Given the description of an element on the screen output the (x, y) to click on. 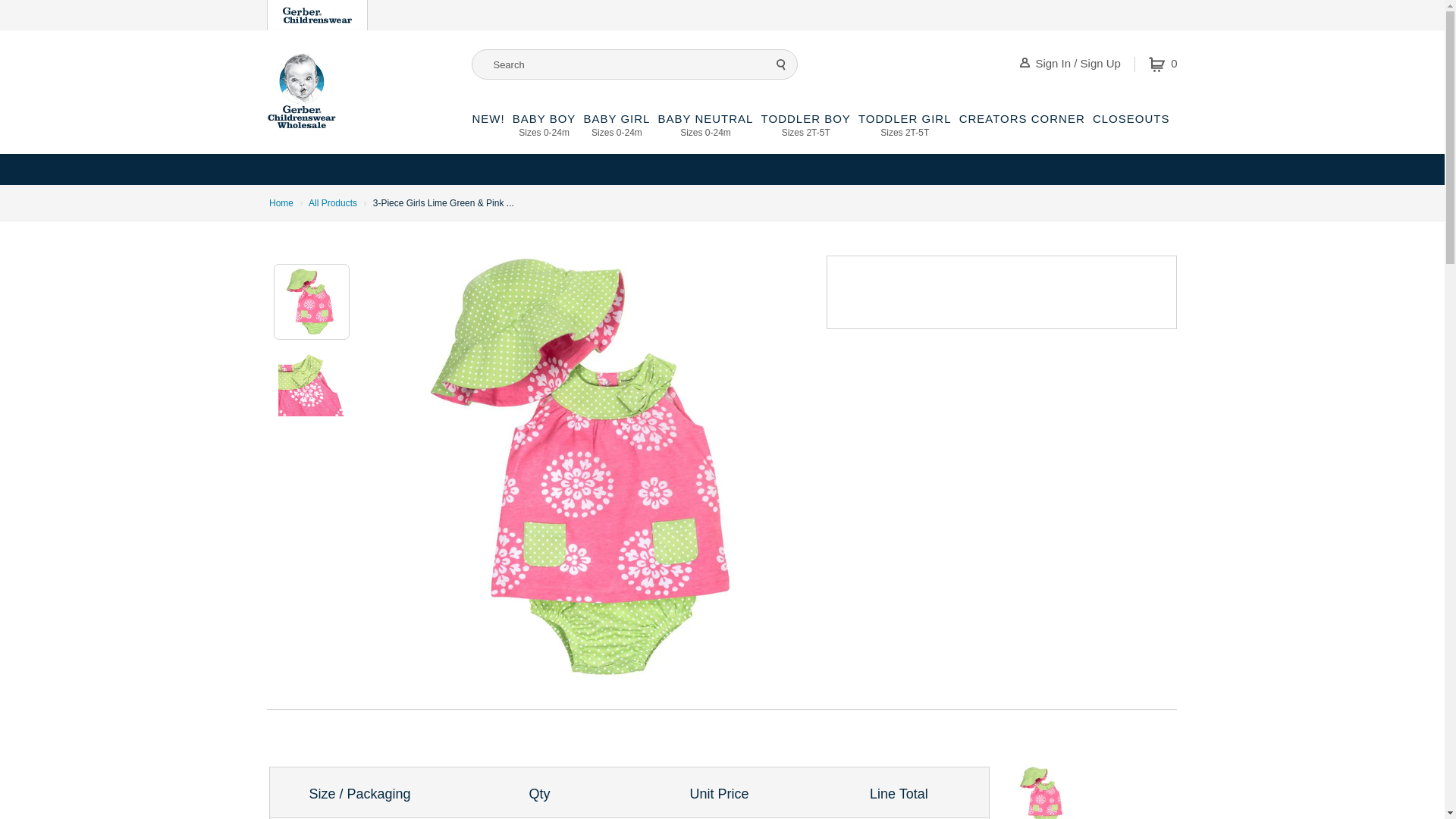
Home (281, 202)
Search (616, 132)
Gerber Childrenswear (544, 132)
